Given the description of an element on the screen output the (x, y) to click on. 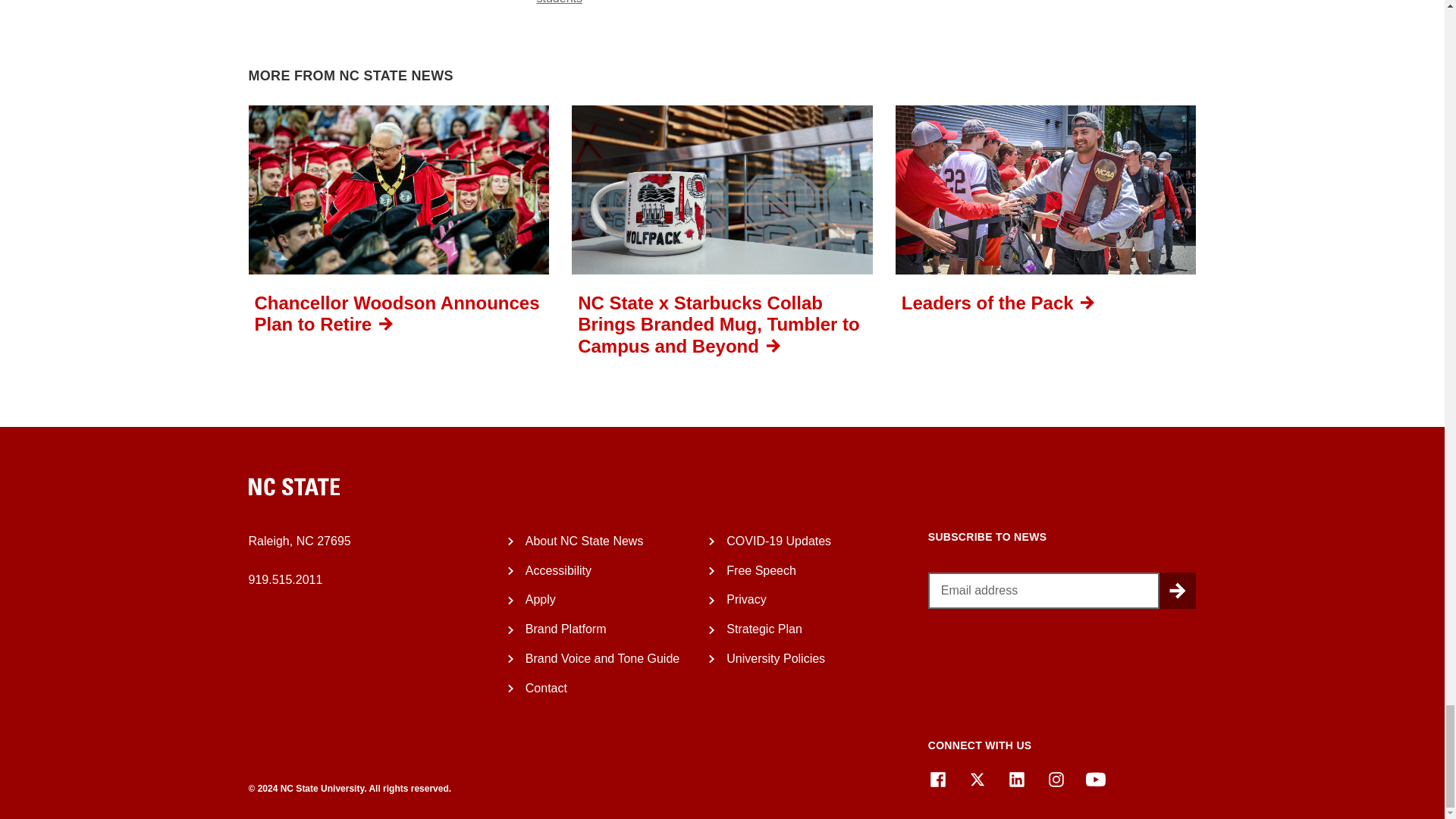
X (977, 779)
LinkedIn (1016, 779)
YouTube (1095, 779)
Instagram (1055, 779)
Facebook (937, 779)
